Given the description of an element on the screen output the (x, y) to click on. 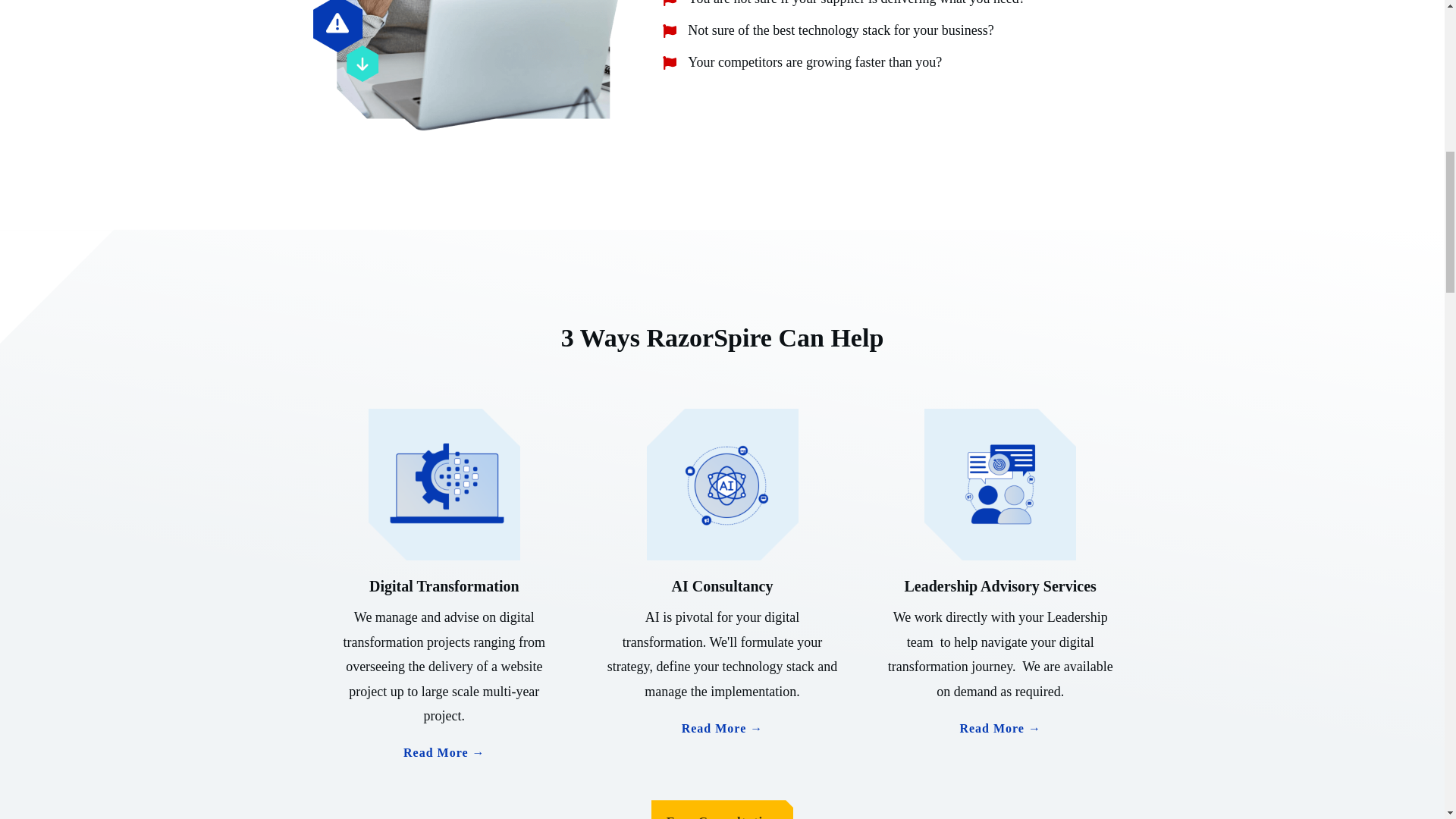
Free Consultation (721, 809)
